Given the description of an element on the screen output the (x, y) to click on. 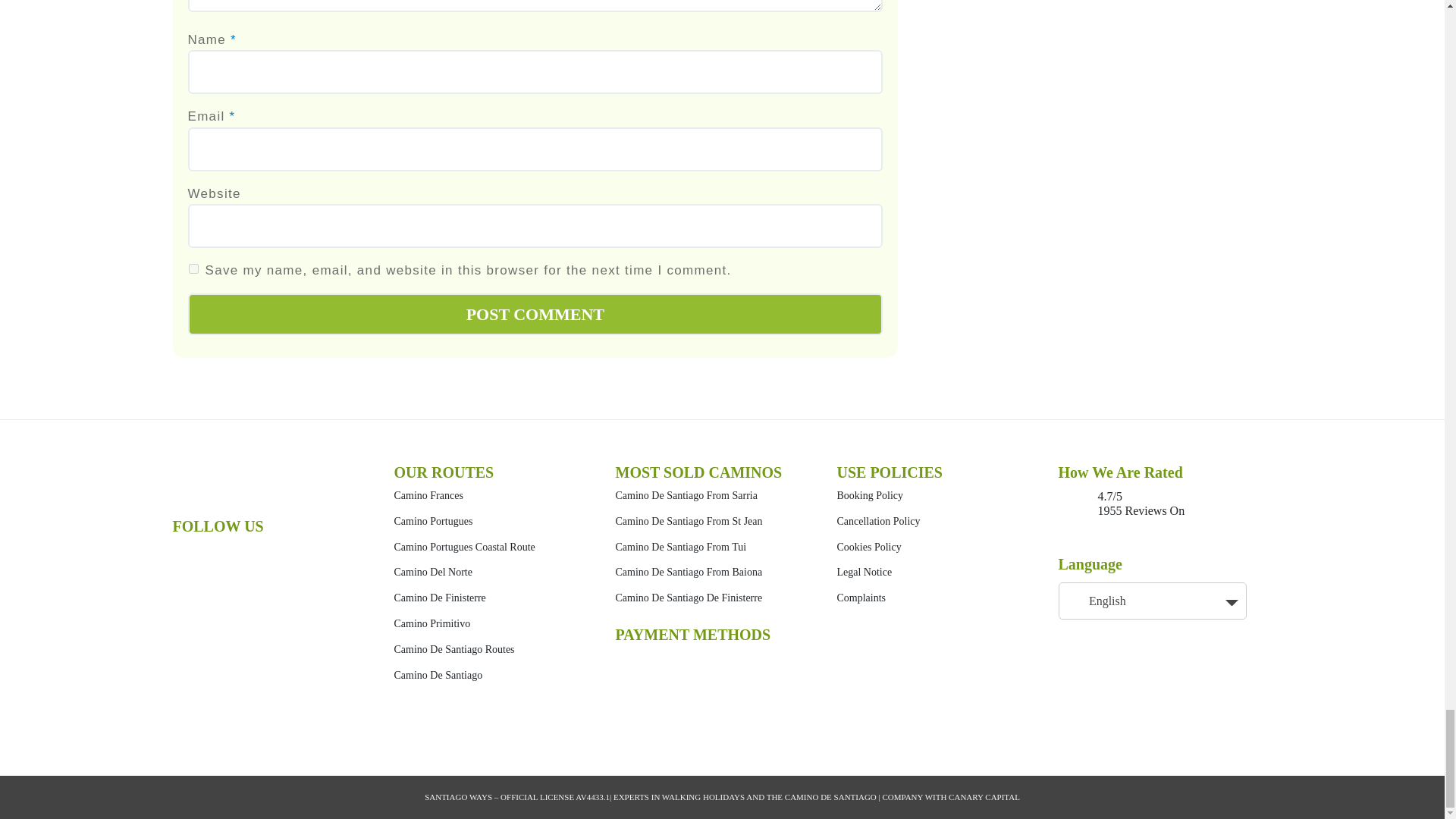
yes (193, 268)
Post Comment (535, 313)
